Given the description of an element on the screen output the (x, y) to click on. 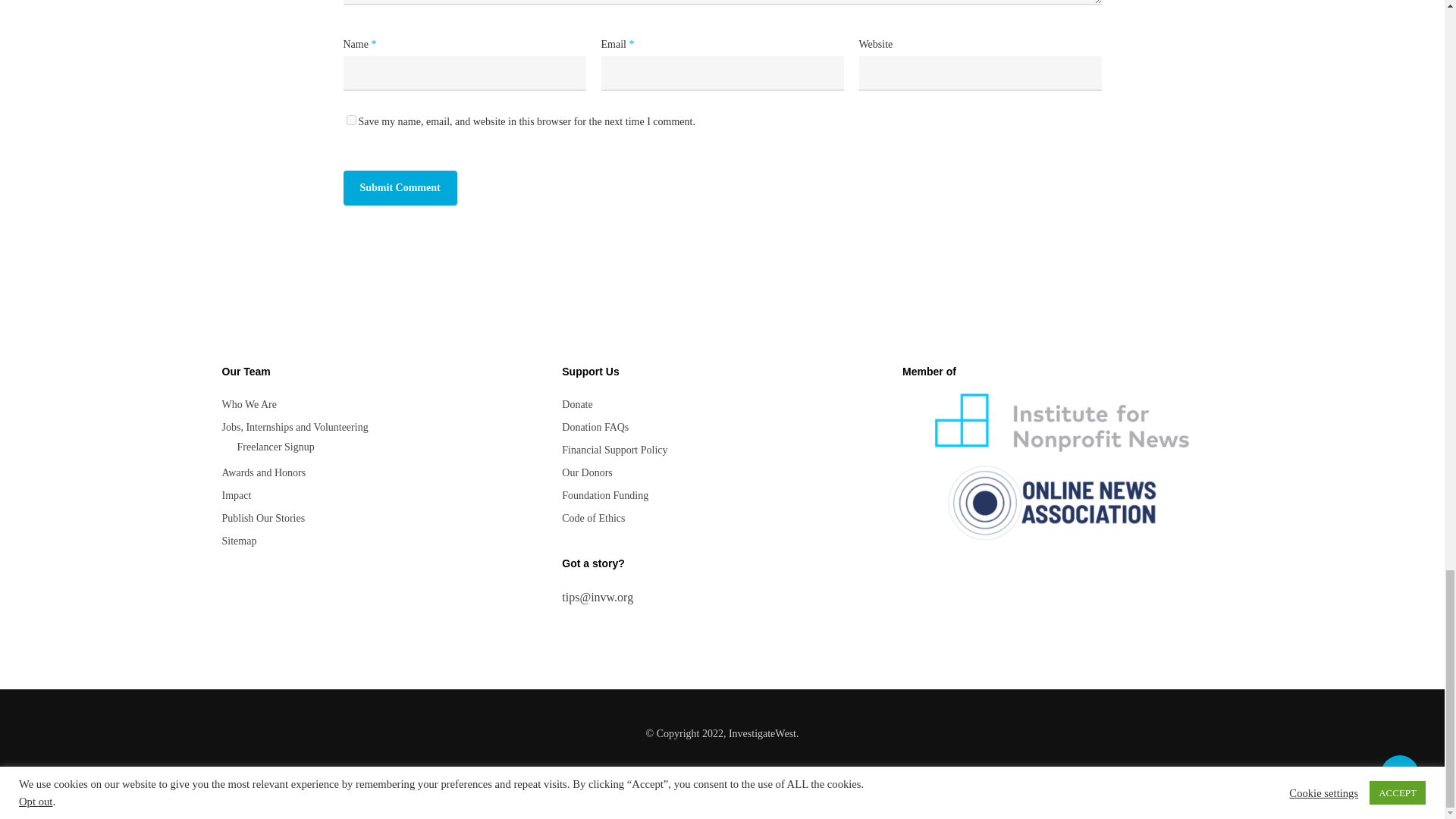
yes (350, 120)
Submit Comment (399, 187)
